Given the description of an element on the screen output the (x, y) to click on. 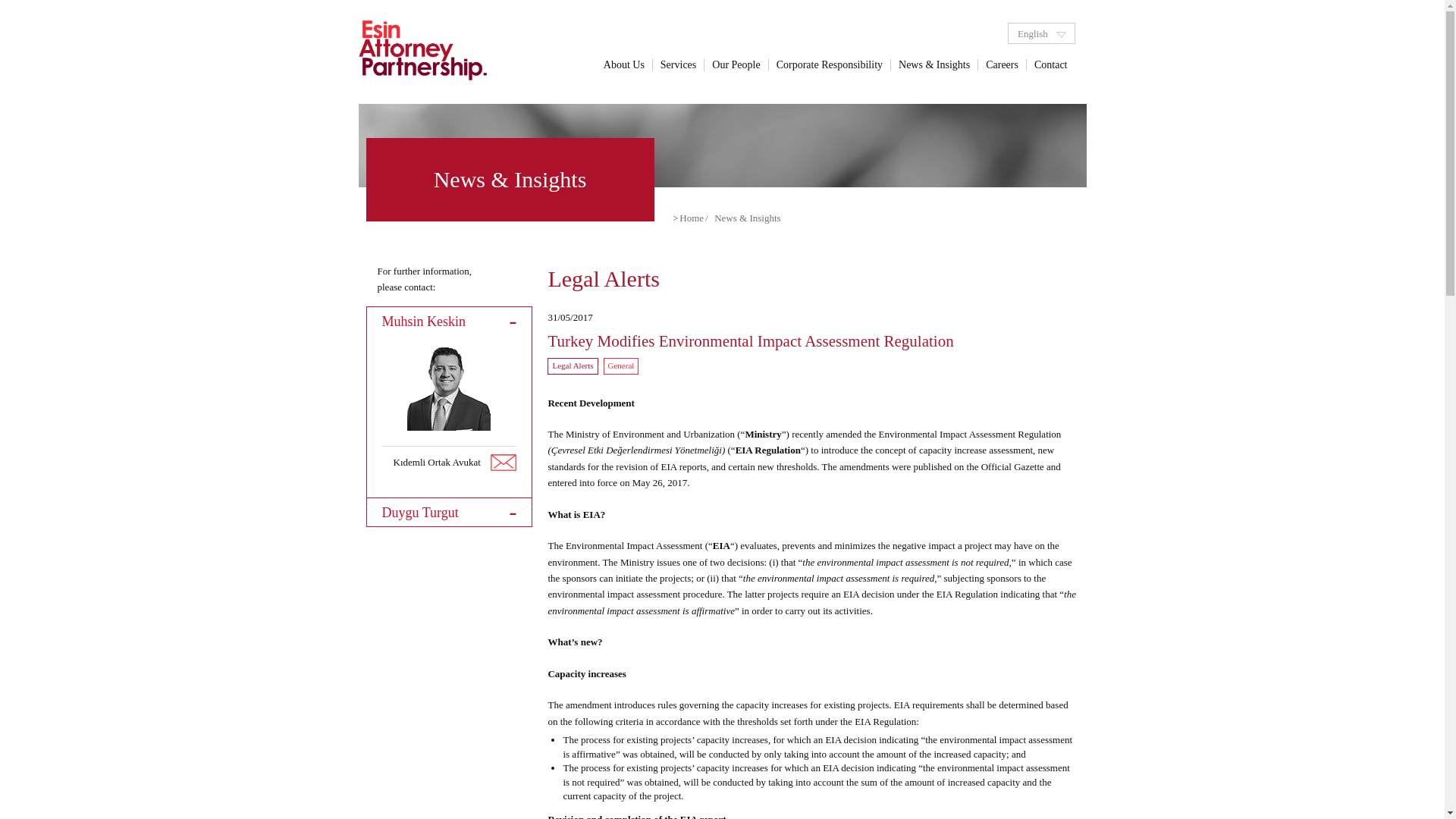
Duygu Turgut (449, 511)
Home (691, 217)
Careers (1002, 64)
English (1041, 33)
Our People (736, 64)
Contact (1050, 64)
Corporate Responsibility (829, 64)
Muhsin Keskin (449, 320)
Services (678, 64)
About Us (623, 64)
